Given the description of an element on the screen output the (x, y) to click on. 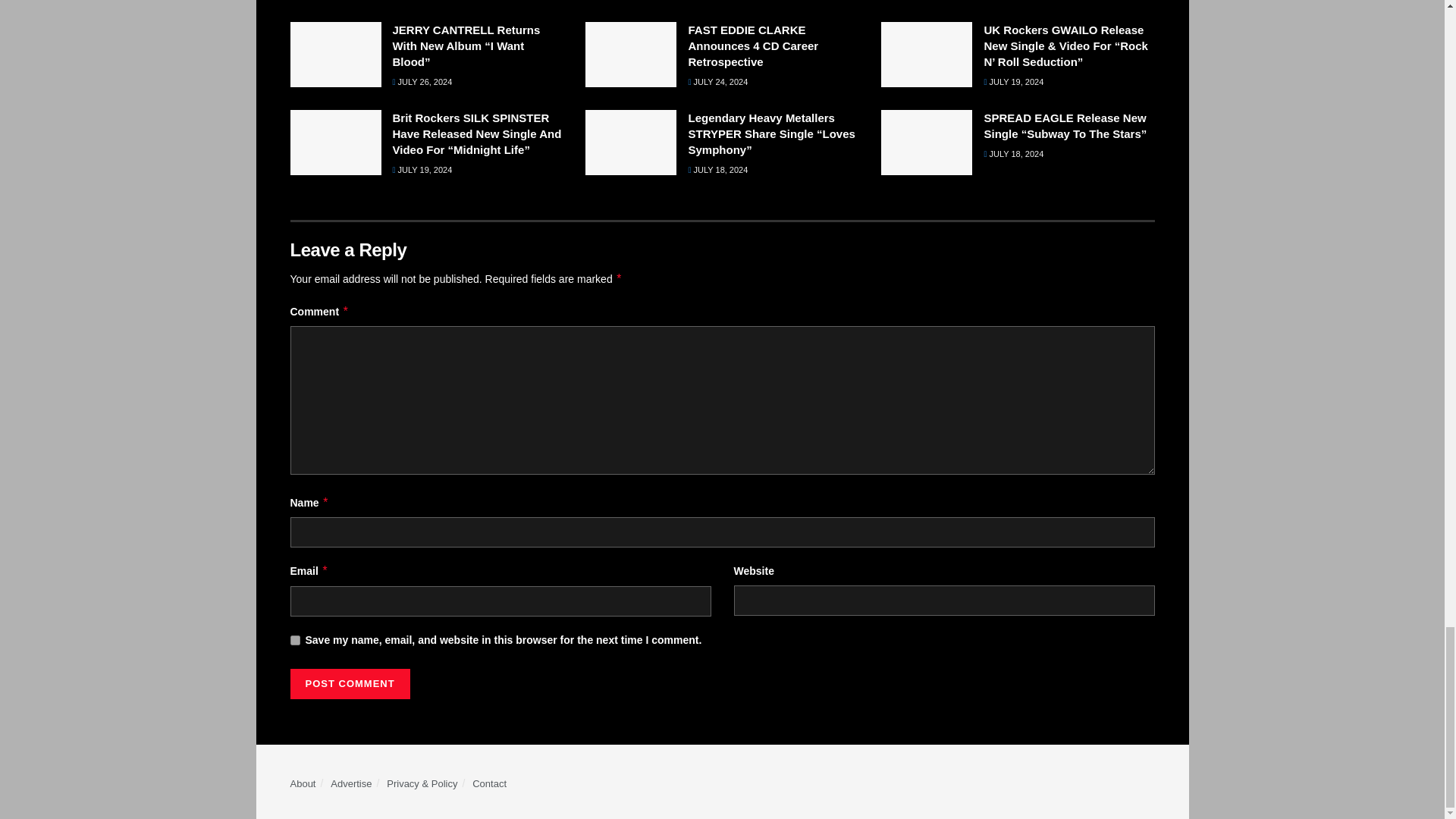
Post Comment (349, 684)
yes (294, 640)
